Given the description of an element on the screen output the (x, y) to click on. 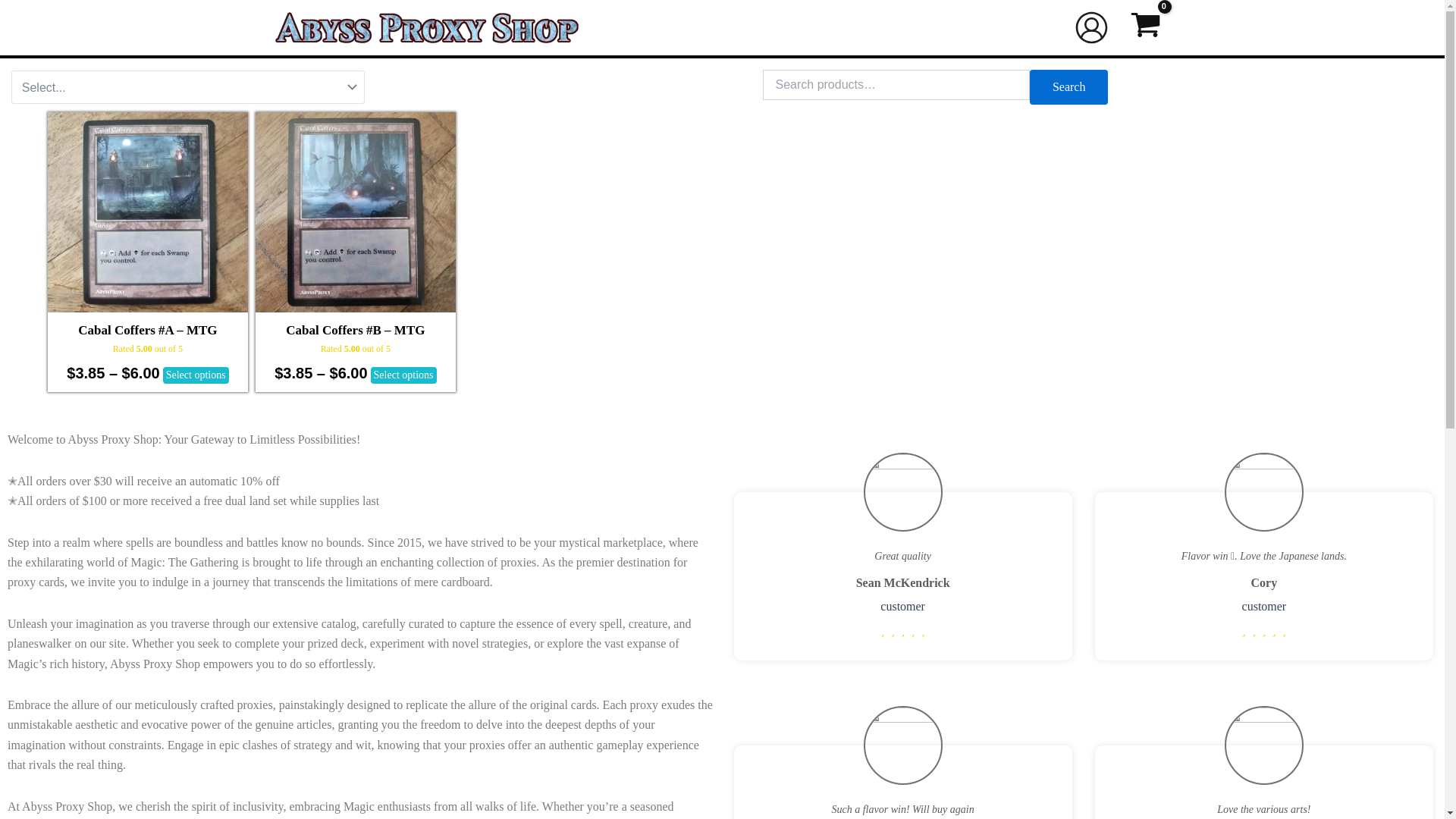
Select options (403, 375)
Select options (195, 375)
Search (1068, 86)
